Given the description of an element on the screen output the (x, y) to click on. 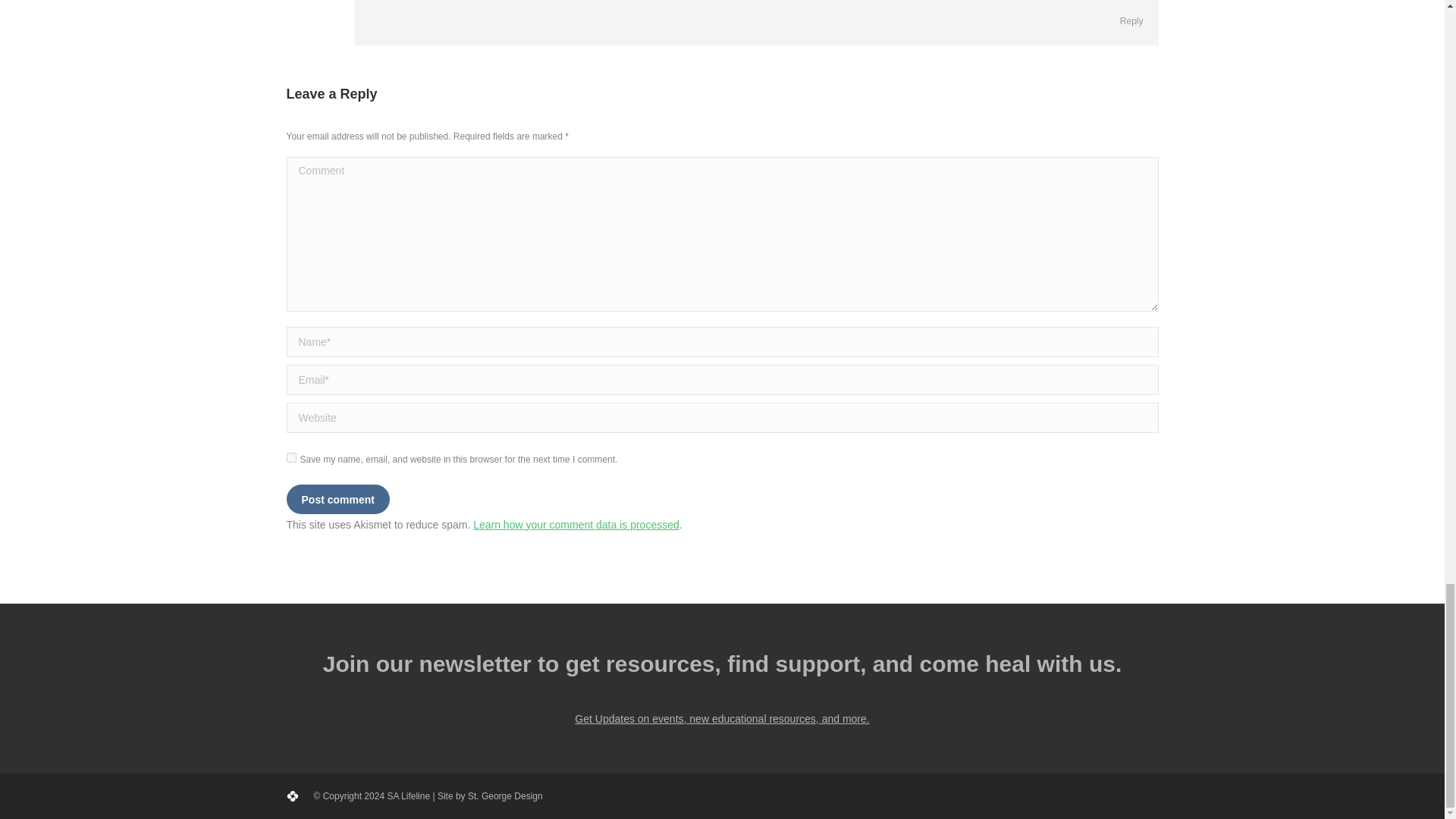
yes (291, 456)
